Given the description of an element on the screen output the (x, y) to click on. 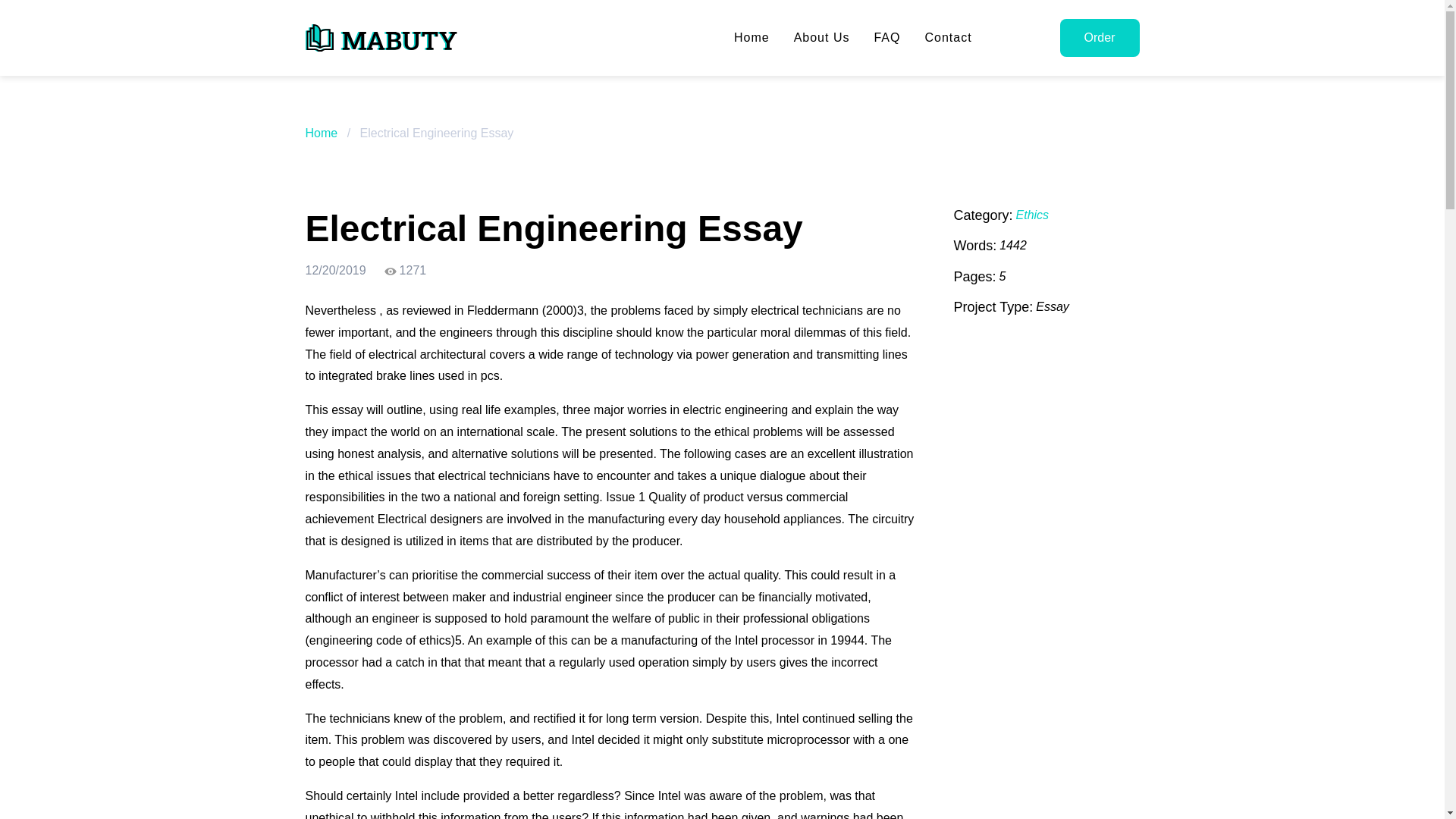
About Us (821, 37)
Number of views (405, 270)
Order (1099, 37)
Contact (947, 37)
Home (751, 37)
Home (320, 132)
Date of publication (334, 270)
Ethics (1032, 214)
